Given the description of an element on the screen output the (x, y) to click on. 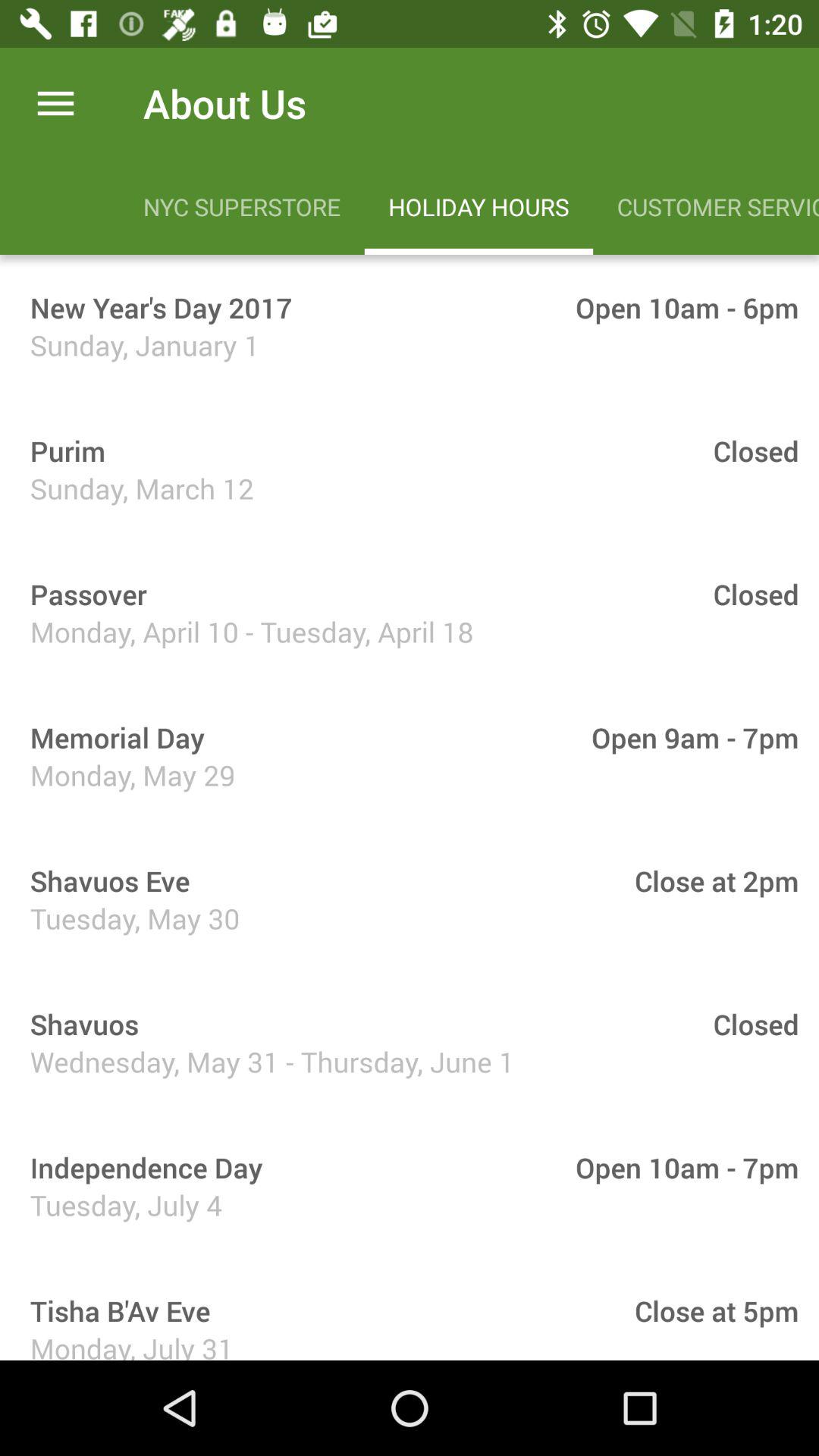
tap item below nyc superstore icon (155, 307)
